Given the description of an element on the screen output the (x, y) to click on. 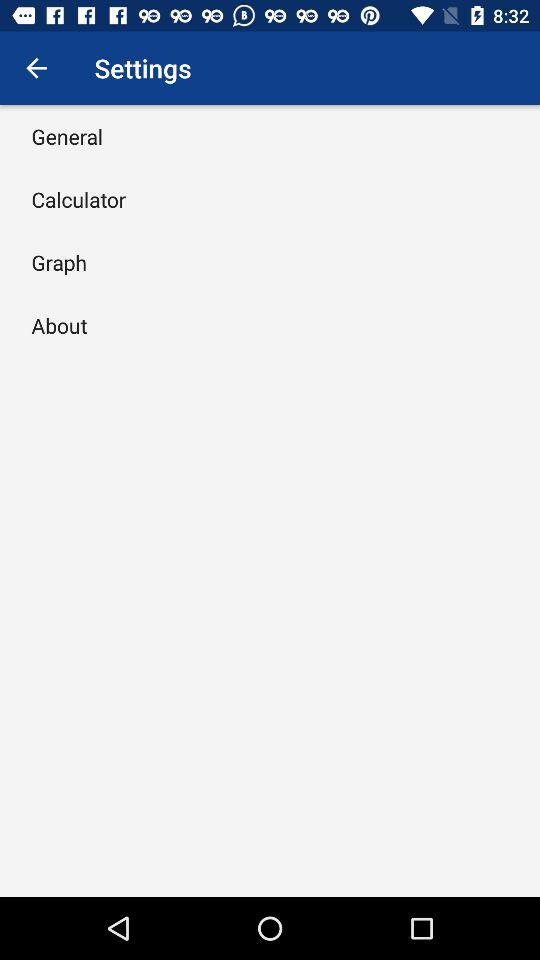
choose item above the about icon (59, 262)
